Given the description of an element on the screen output the (x, y) to click on. 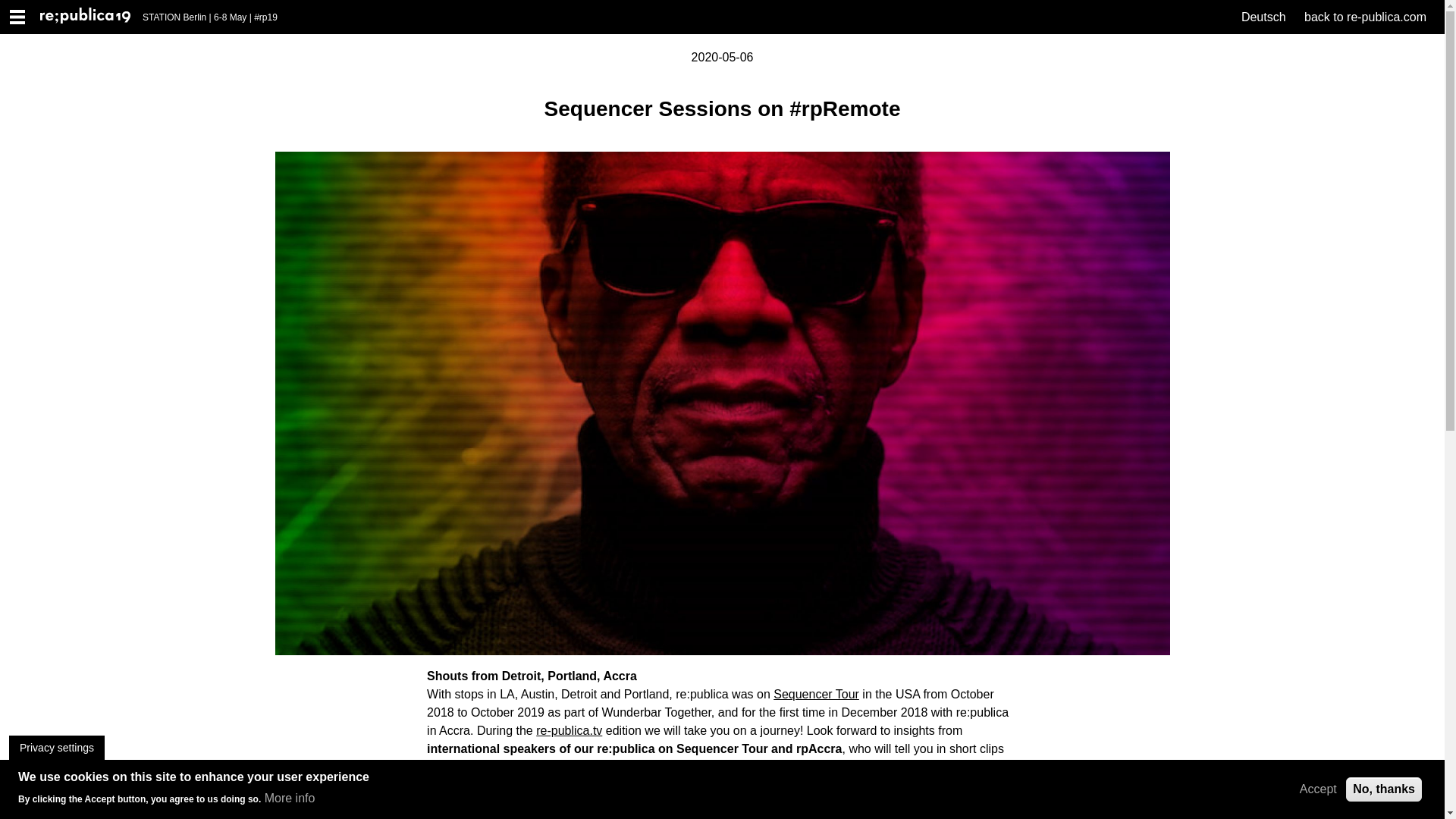
Deutsch (1263, 17)
No, thanks (1383, 789)
back to re-publica.com (1365, 17)
Accept (1318, 789)
Privacy settings (56, 747)
More info (289, 798)
Home (91, 17)
